Given the description of an element on the screen output the (x, y) to click on. 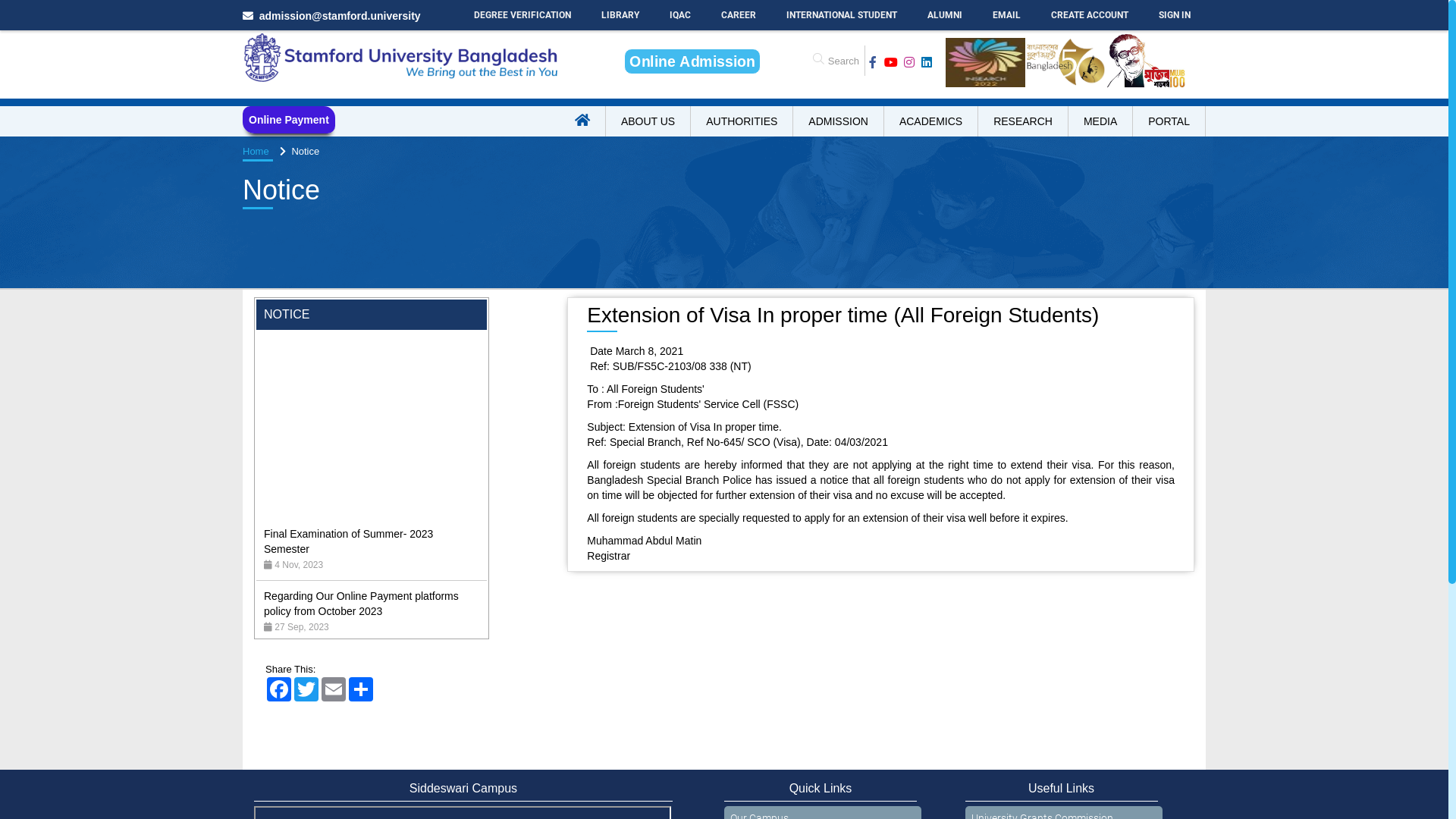
PORTAL Element type: text (1168, 121)
ABOUT US Element type: text (647, 121)
Final Examination of Summer- 2023 Semester Element type: text (348, 636)
Onlin Element type: text (692, 61)
RESEARCH Element type: text (1023, 121)
Facebook Element type: text (278, 689)
Online Payment Element type: text (288, 119)
ALUMNI Element type: text (944, 14)
ACADEMICS Element type: text (931, 121)
Share Element type: text (360, 689)
CAREER Element type: text (738, 14)
Email Element type: text (333, 689)
IQAC Element type: text (680, 14)
AUTHORITIES Element type: text (741, 121)
Twitter Element type: text (306, 689)
DEGREE VERIFICATION Element type: text (522, 14)
LIBRARY Element type: text (620, 14)
Online Element type: text (692, 61)
ADMISSION Element type: text (838, 121)
SIGN IN Element type: text (1174, 14)
MEDIA Element type: text (1100, 121)
CREATE ACCOUNT Element type: text (1089, 14)
INTERNATIONAL STUDENT Element type: text (841, 14)
EMAIL Element type: text (1006, 14)
